Given the description of an element on the screen output the (x, y) to click on. 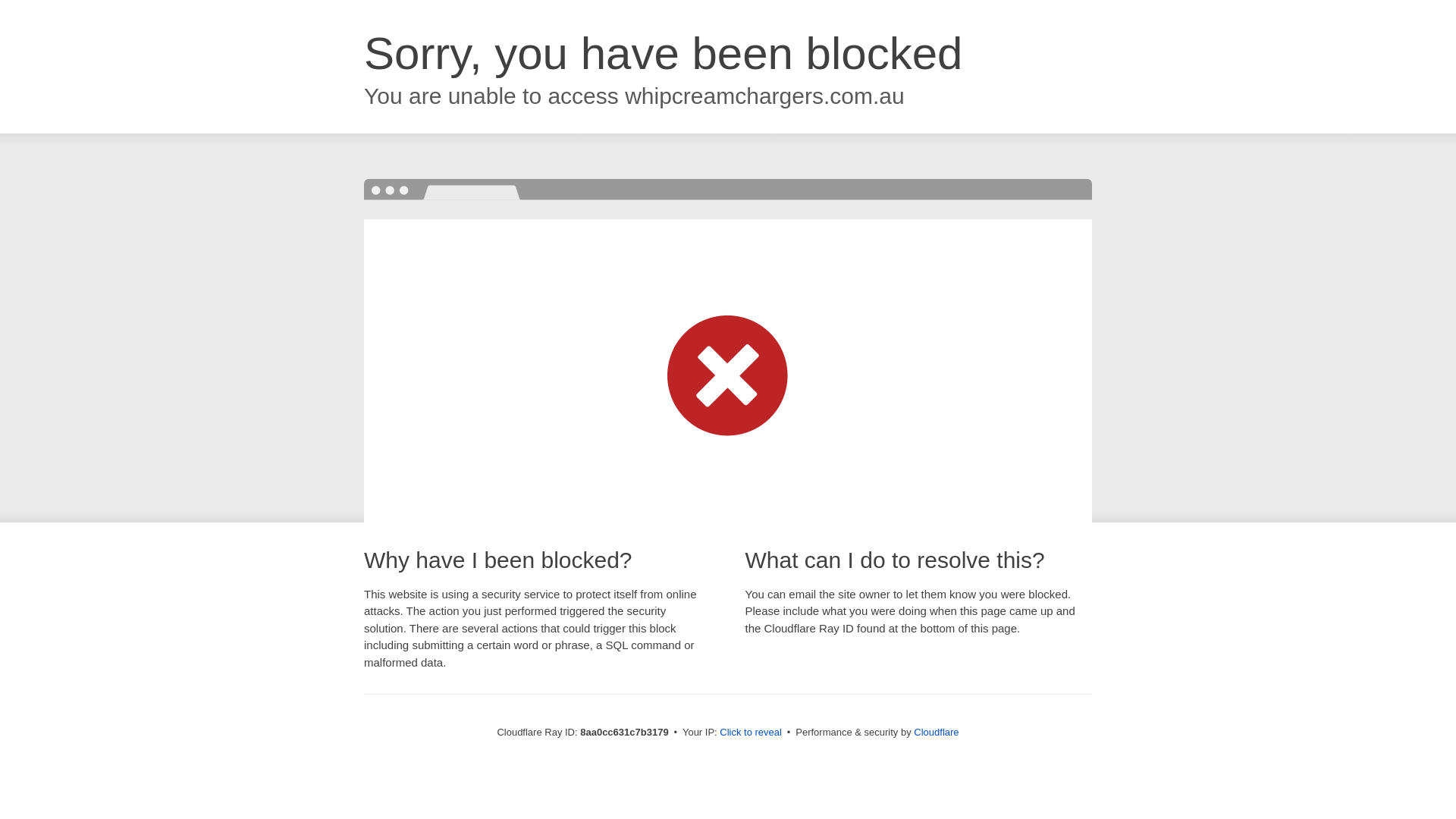
Cloudflare (936, 731)
Click to reveal (750, 732)
